Given the description of an element on the screen output the (x, y) to click on. 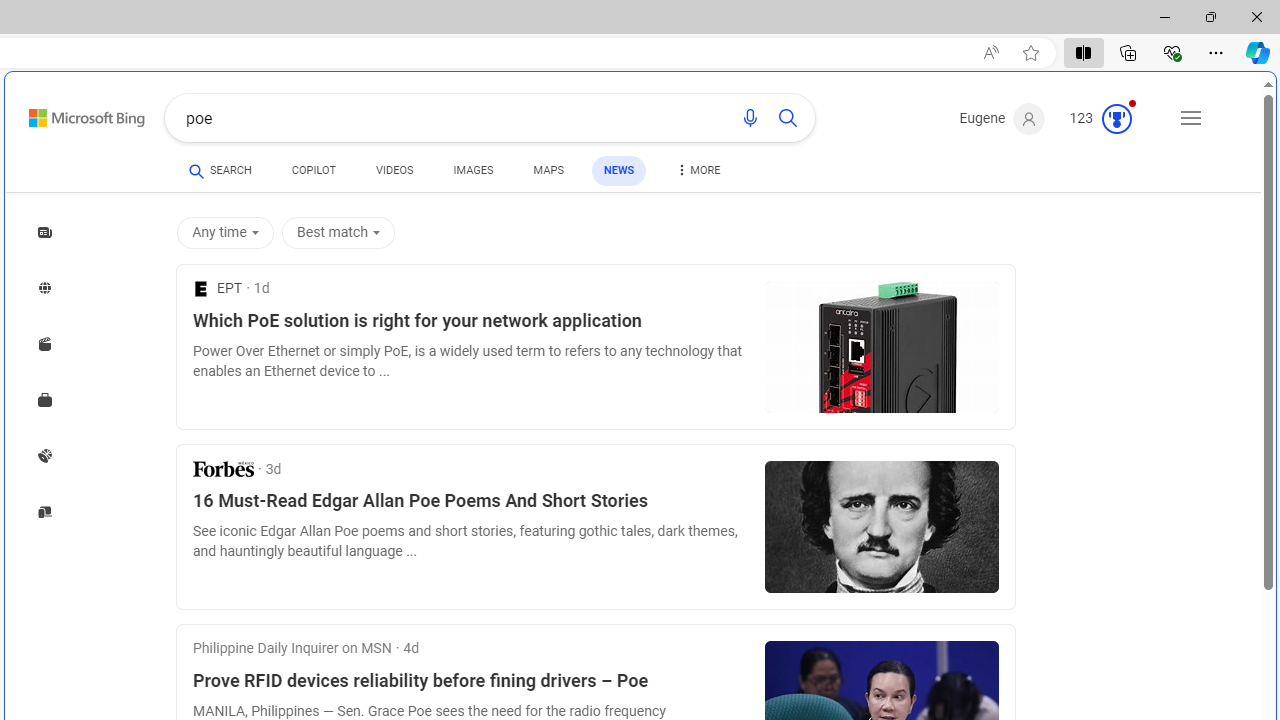
Settings and quick links (1190, 117)
Any time (224, 232)
SEARCH (219, 170)
Search news about Business (44, 400)
COPILOT (313, 173)
Search news about Entertainment (44, 344)
16 Must-Read Edgar Allan Poe Poems And Short Stories (470, 501)
SEARCH (219, 170)
Search news about Sci/Tech (44, 511)
Class: medal-circled (1116, 118)
Microsoft Rewards 123 (1103, 119)
